Given the description of an element on the screen output the (x, y) to click on. 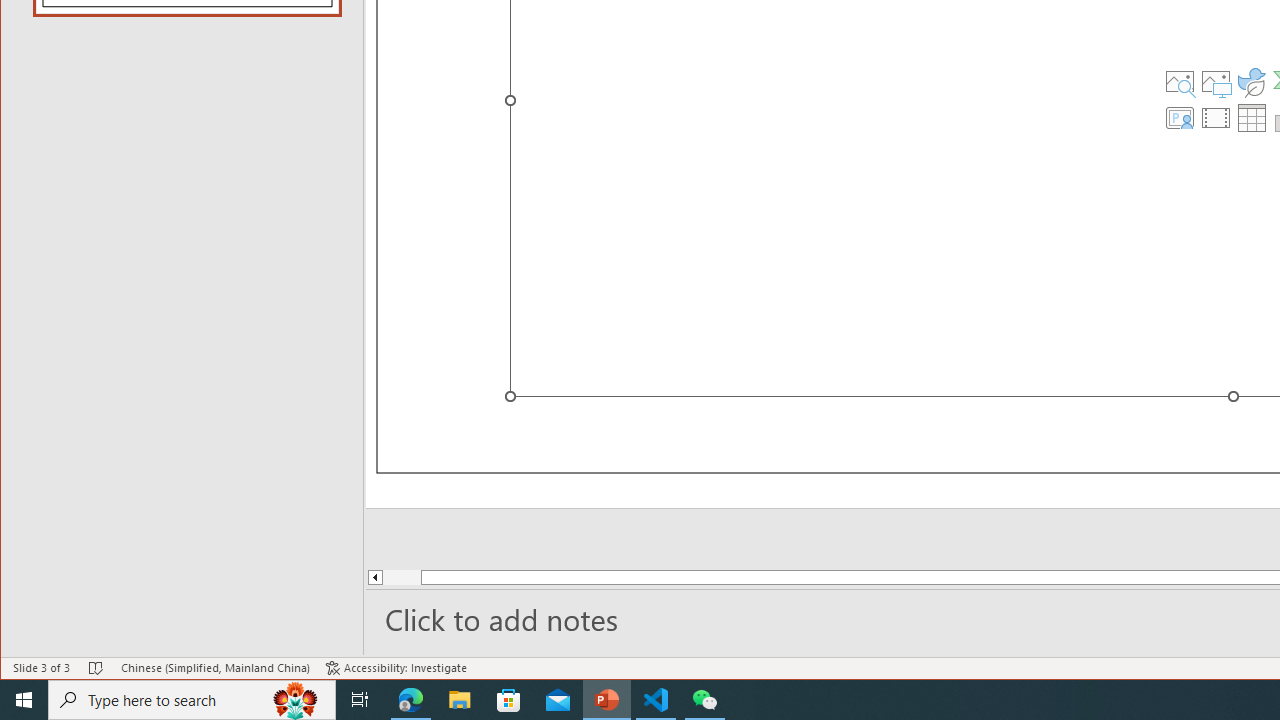
Page up (438, 577)
Insert Video (1215, 117)
Insert Cameo (1179, 117)
Accessibility Checker Accessibility: Investigate (395, 668)
WeChat - 1 running window (704, 699)
Start (24, 699)
